Given the description of an element on the screen output the (x, y) to click on. 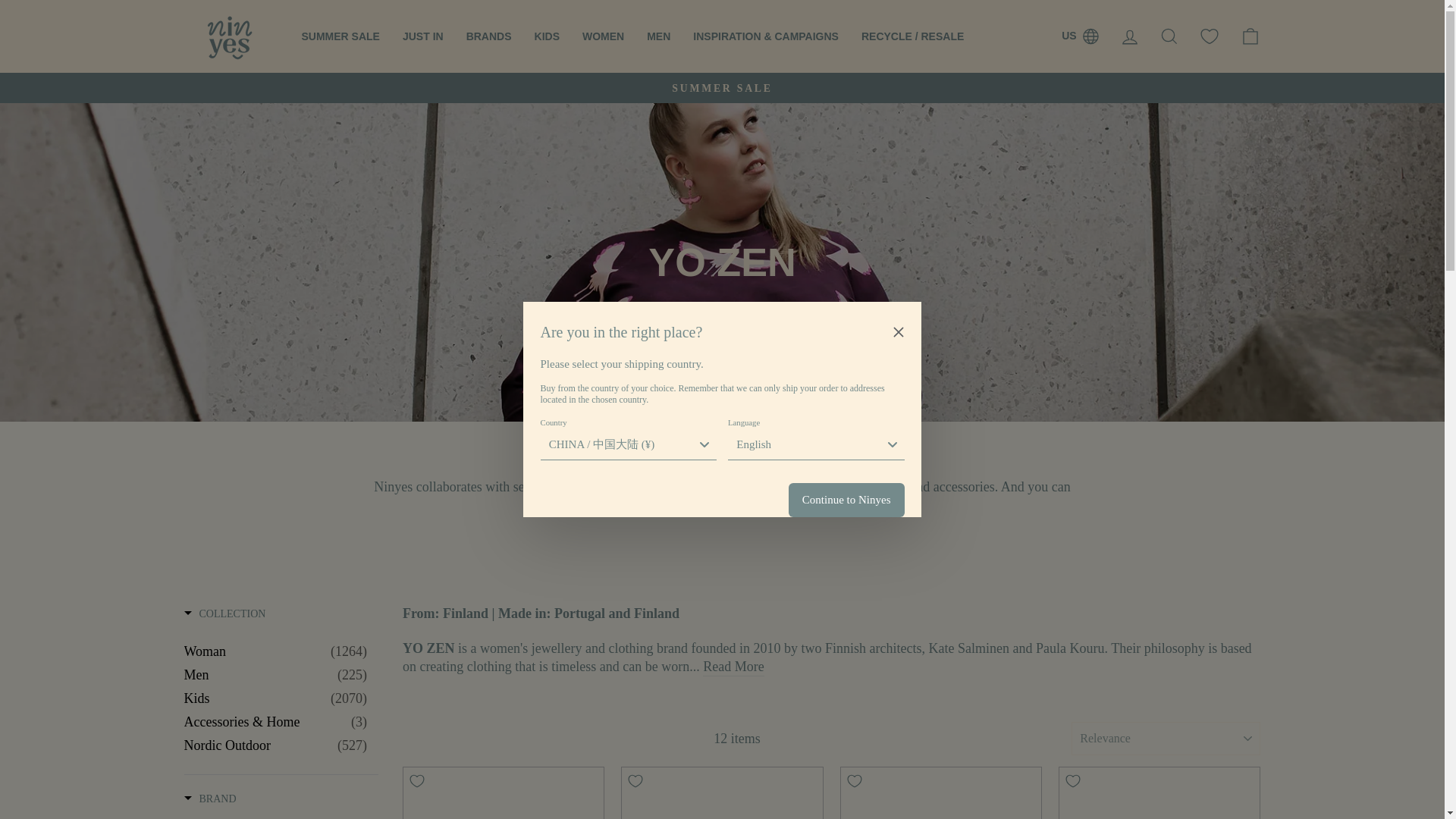
English (816, 444)
Continue to Ninyes (846, 499)
